Given the description of an element on the screen output the (x, y) to click on. 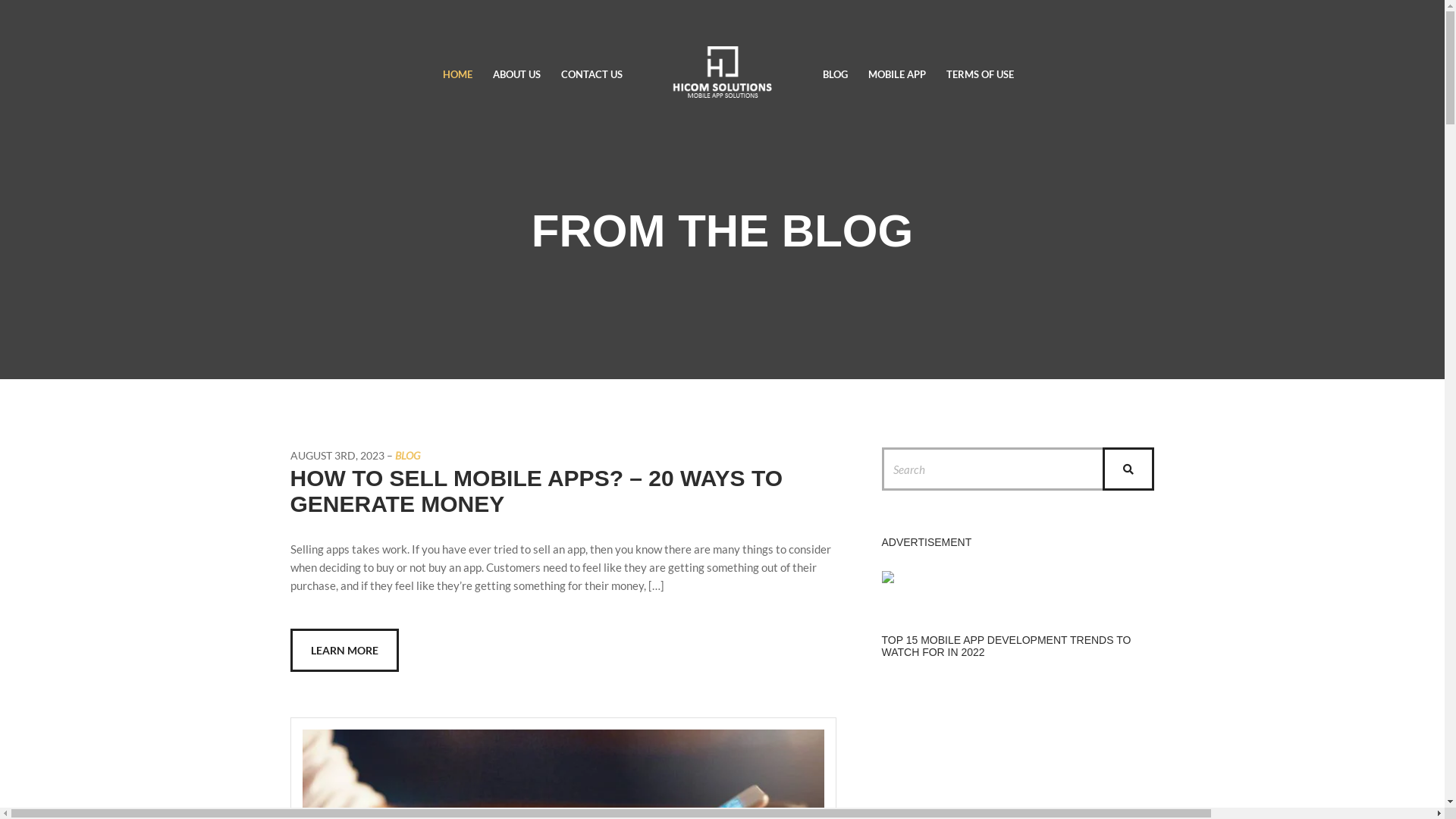
SEARCH Element type: text (1128, 468)
BLOG Element type: text (834, 73)
How to Use LiDAR on iPhone & iPad -- What Can It Do? Element type: hover (1017, 748)
CONTACT US Element type: text (591, 73)
LEARN MORE Element type: text (343, 649)
ABOUT US Element type: text (516, 73)
BLOG Element type: text (406, 454)
HOME Element type: text (457, 73)
MOBILE APP Element type: text (896, 73)
TERMS OF USE Element type: text (979, 73)
